Given the description of an element on the screen output the (x, y) to click on. 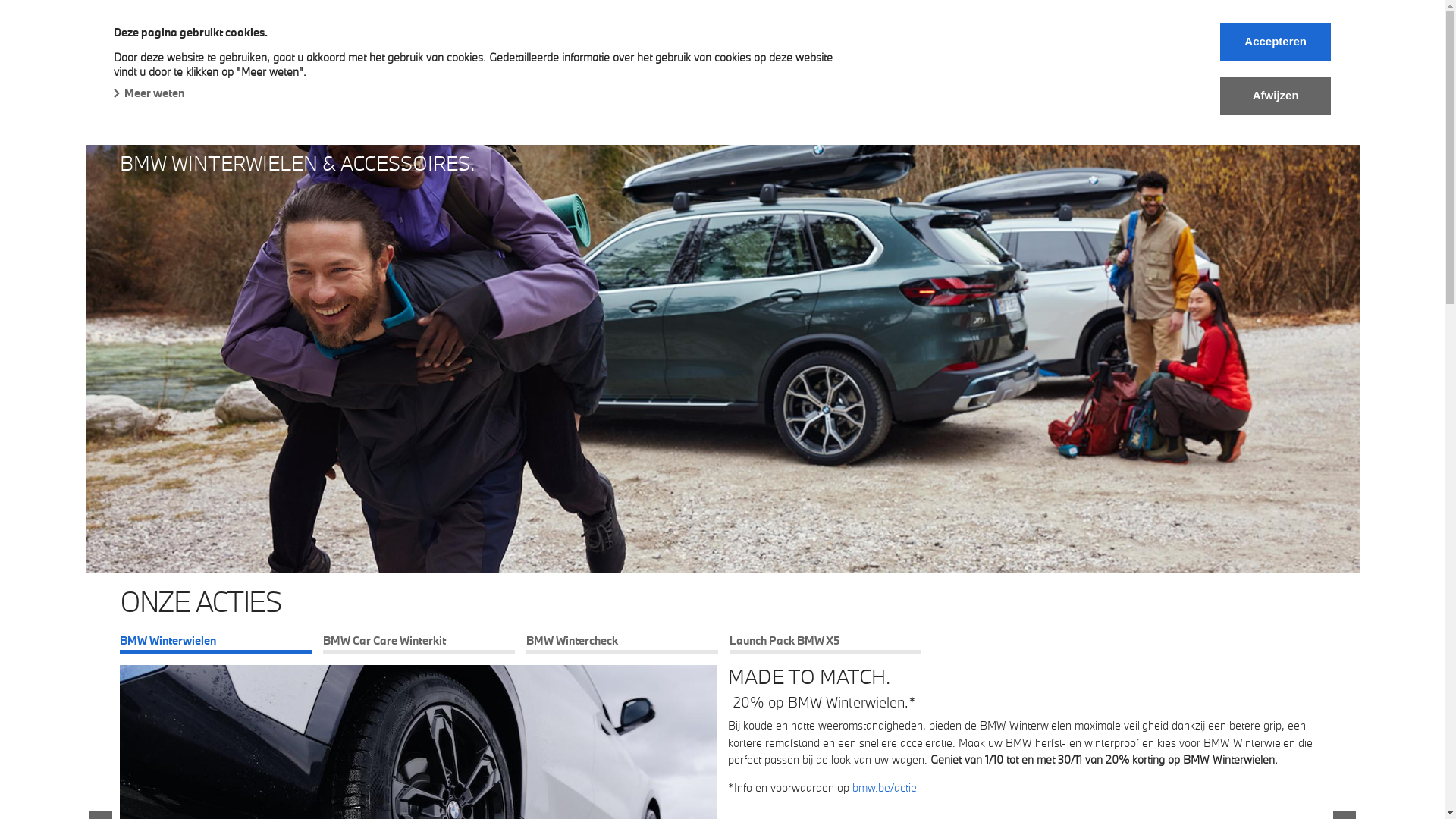
Maak een afspraak Element type: text (976, 63)
Onze concessies Element type: text (648, 63)
Skip to main content Element type: text (0, 0)
Contact Element type: text (817, 63)
BMW A&M Group Element type: text (164, 31)
Afwijzen Element type: text (1275, 95)
Jobs Element type: text (881, 63)
BMW Wintercheck Element type: text (622, 643)
Nieuws Element type: text (744, 63)
Launch Pack BMW X5 Element type: text (825, 643)
BMW Car Care Winterkit Element type: text (418, 643)
Nieuwe wagens Element type: text (163, 63)
bmw.be/actie Element type: text (884, 787)
BMW Winterwielen Element type: text (215, 643)
Fleet Element type: text (408, 63)
Service & Accessoires Element type: text (511, 64)
Accepteren Element type: text (1275, 41)
Meer weten Element type: text (148, 92)
Snel leverbare wagens Element type: text (301, 63)
FR/NL Element type: text (1076, 63)
